Given the description of an element on the screen output the (x, y) to click on. 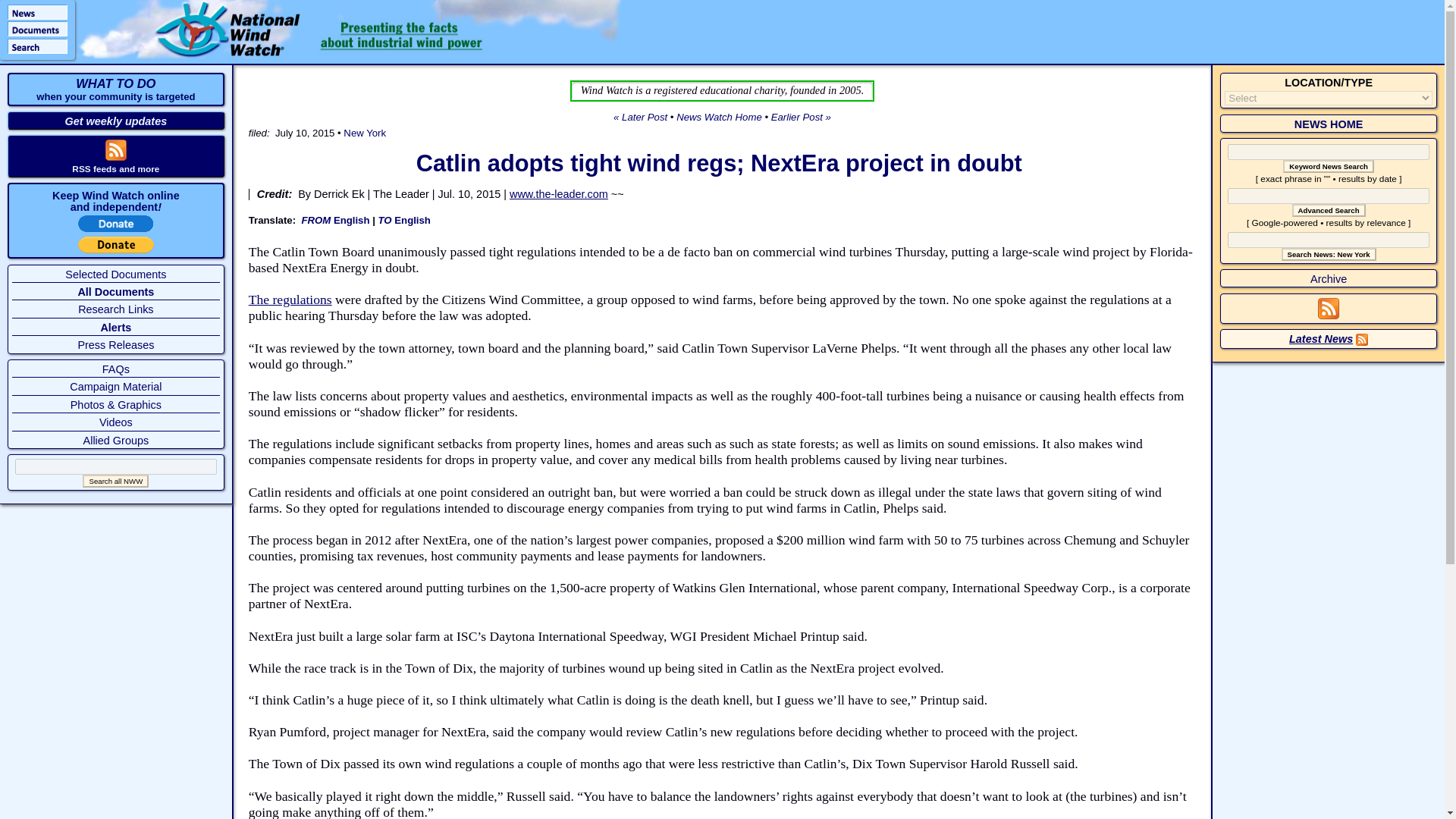
Keyword News Search (1328, 165)
Advanced Search (1328, 210)
Wind Watch RSS Feeds (115, 156)
Advanced Search (1328, 210)
Get weekly updates (116, 121)
Campaign Material (115, 386)
Keyword News Search (1328, 165)
Wind Watch News Feeds (1328, 315)
Search News: New York (1328, 254)
News Watch Home (719, 116)
